Given the description of an element on the screen output the (x, y) to click on. 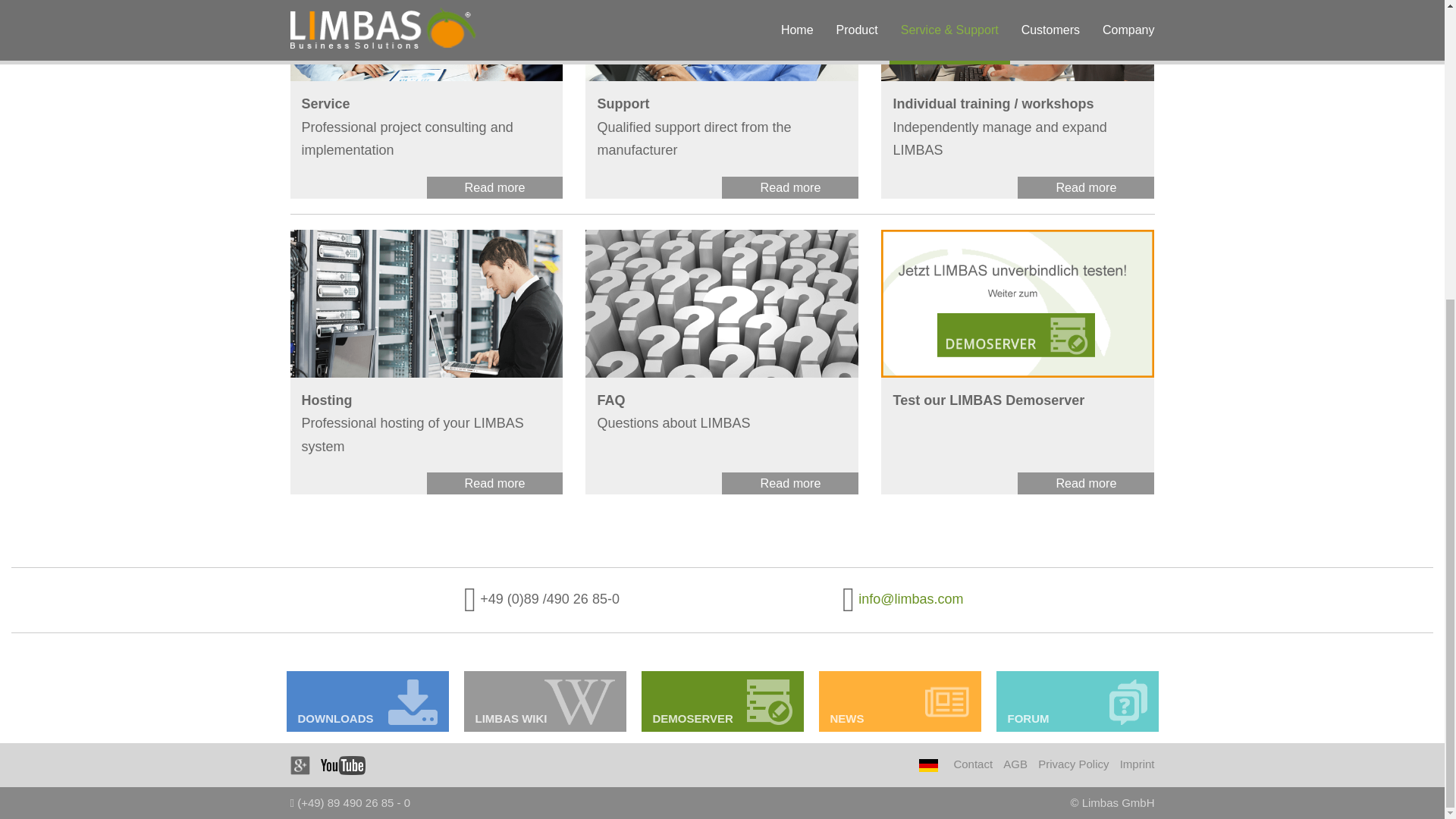
DEMOSERVER (722, 701)
Read more (790, 187)
FORUM (1076, 701)
AGB (1015, 763)
DOWNLOADS (367, 701)
Read more (494, 483)
Privacy Policy (1073, 763)
Read more (1085, 483)
Contact (972, 763)
Read more (790, 483)
